Given the description of an element on the screen output the (x, y) to click on. 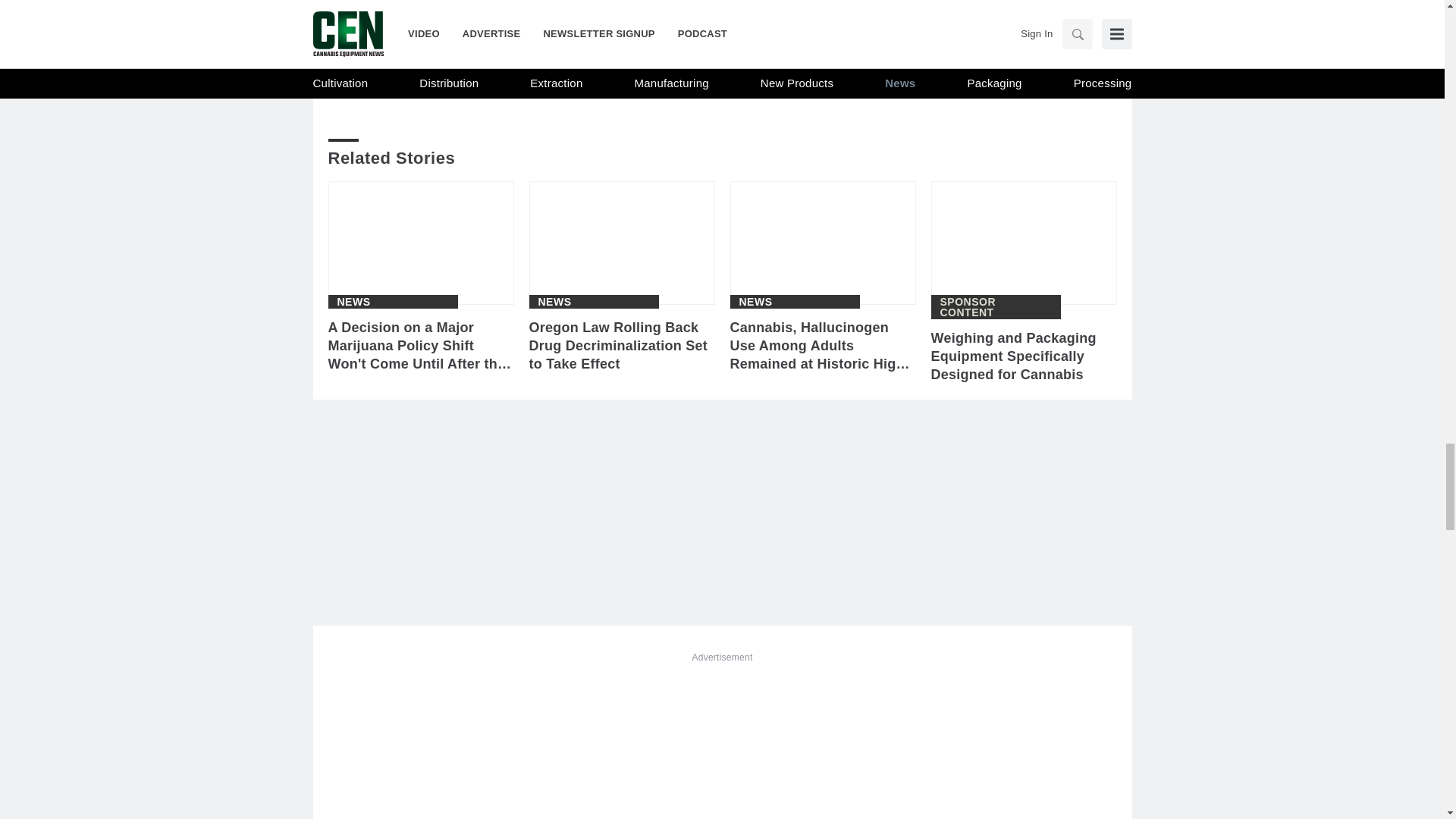
Share To pinterest (499, 71)
Share To linkedin (421, 71)
Share To twitter (460, 71)
Share To print (342, 71)
Share To facebook (381, 71)
